Given the description of an element on the screen output the (x, y) to click on. 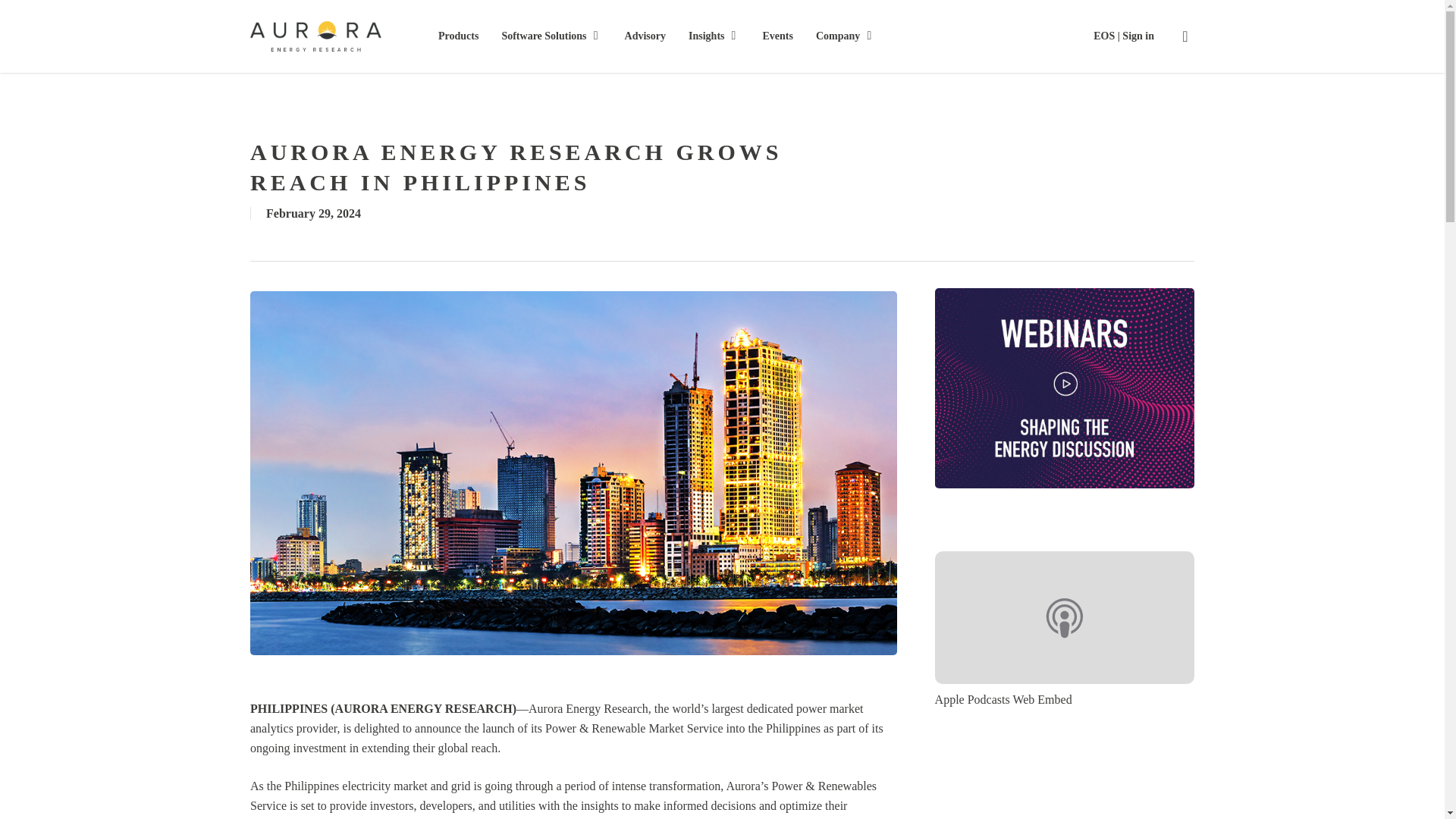
Software Solutions (550, 36)
Events (777, 36)
Advisory (644, 36)
Products (458, 36)
Insights (713, 36)
Company (845, 36)
search (1184, 36)
